Given the description of an element on the screen output the (x, y) to click on. 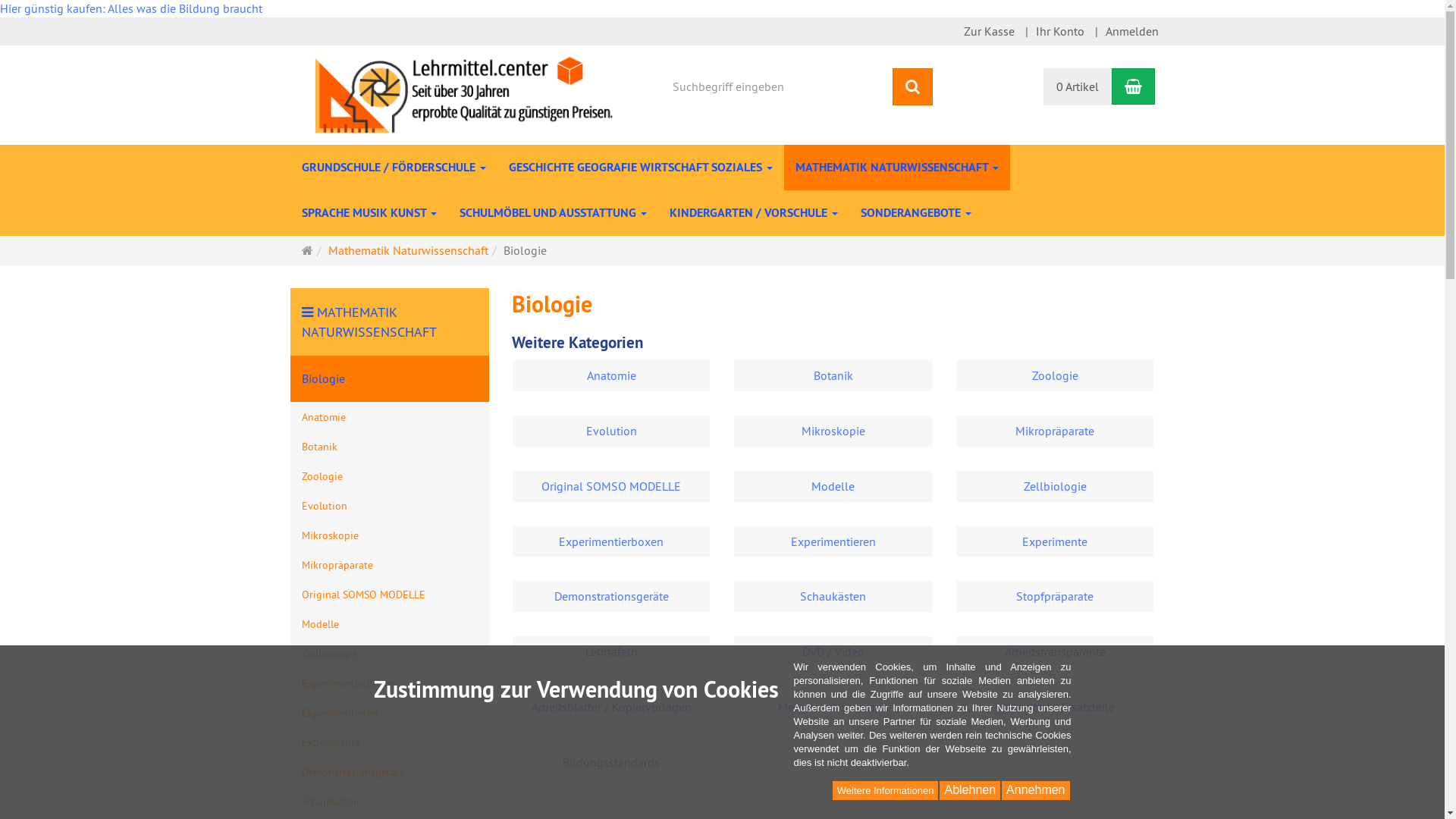
DVD / Video Element type: text (832, 651)
Experimentieren Element type: text (389, 712)
Zellbiologie Element type: text (389, 653)
MATHEMATIK NATURWISSENSCHAFT Element type: text (897, 167)
Anatomie Element type: text (389, 416)
Hilfsmittel / Ersatzteile Element type: text (1054, 706)
Vielseitiges Angebot von Lehrmitteln und Schulausstattung Element type: hover (464, 92)
SPRACHE MUSIK KUNST Element type: text (368, 212)
Suchen Element type: text (912, 86)
Modelle Element type: text (389, 623)
Mikroskopie Element type: text (832, 430)
Evolution Element type: text (610, 430)
Mikroskopie Element type: text (389, 534)
Weitere Informationen Element type: text (885, 790)
Mathematik Naturwissenschaft Element type: text (407, 249)
Zur Kasse Element type: text (988, 31)
0 Artikel Element type: text (1077, 86)
Arbeitstransparente Element type: text (1054, 651)
Botanik Element type: text (389, 446)
Biologie Element type: text (389, 378)
Botanik Element type: text (832, 375)
Bildungsstandards Element type: text (610, 762)
Ihr Konto Element type: text (1060, 31)
Experimentierboxen Element type: text (389, 682)
Annehmen Element type: text (1035, 790)
Lehrtafeln Element type: text (610, 651)
Anatomie Element type: text (610, 375)
Experimentierboxen Element type: text (610, 541)
GESCHICHTE GEOGRAFIE WIRTSCHAFT SOZIALES Element type: text (640, 167)
Original SOMSO MODELLE Element type: text (610, 486)
Experimente Element type: text (1054, 541)
Messen mit Sensoren Element type: text (832, 706)
Original SOMSO MODELLE Element type: text (389, 593)
Zoologie Element type: text (1054, 375)
Experimentieren Element type: text (832, 541)
SONDERANGEBOTE Element type: text (915, 212)
Anmelden Element type: text (1132, 31)
Startseite Element type: text (307, 249)
Modelle Element type: text (832, 486)
KINDERGARTEN / VORSCHULE Element type: text (753, 212)
MATHEMATIK NATURWISSENSCHAFT Element type: text (368, 321)
Warenkorb Element type: text (1132, 86)
Ablehnen Element type: text (969, 790)
Evolution Element type: text (389, 505)
Zoologie Element type: text (389, 475)
Zellbiologie Element type: text (1054, 486)
Experimente Element type: text (389, 741)
